Given the description of an element on the screen output the (x, y) to click on. 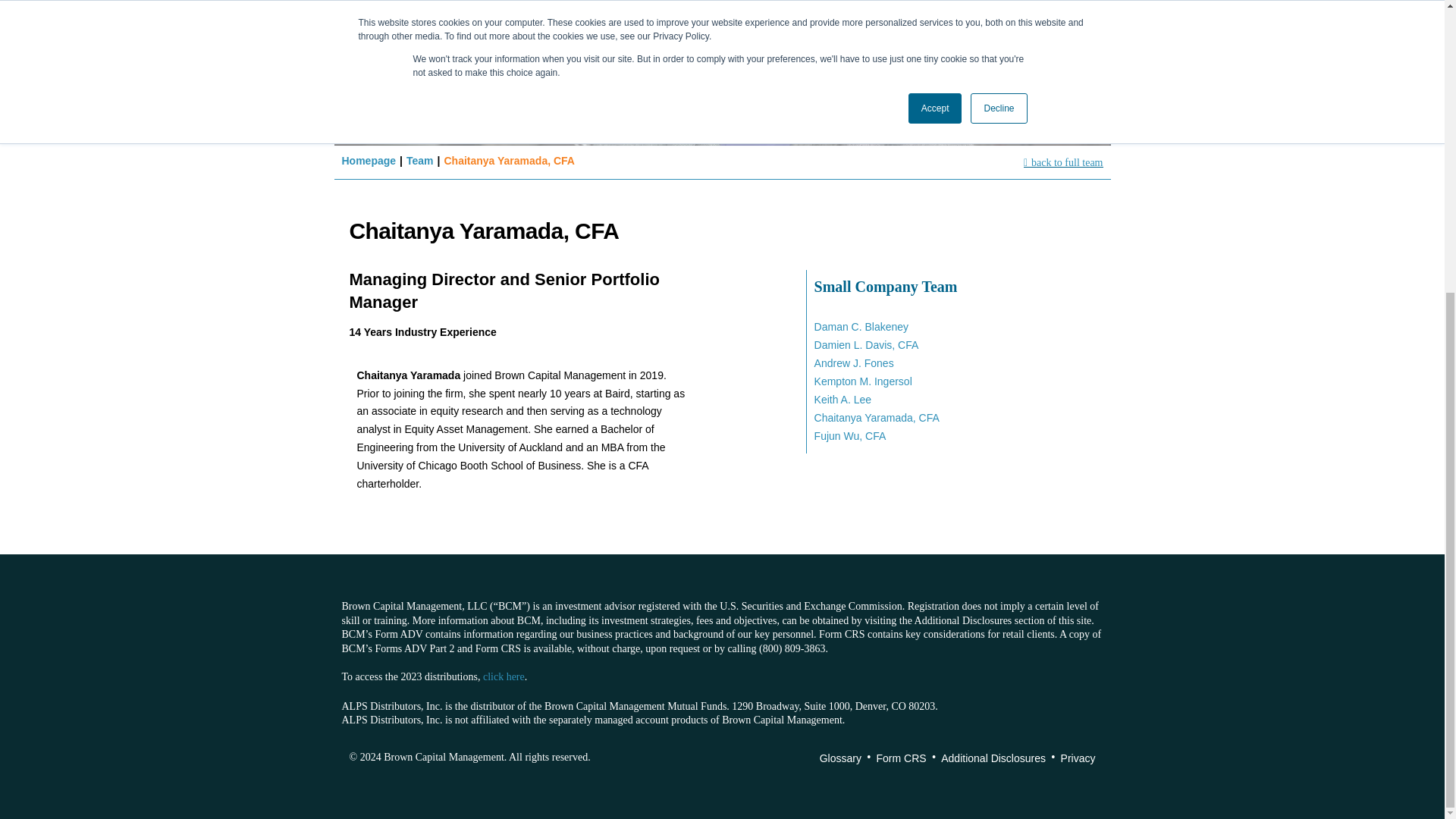
Homepage (368, 160)
Team (419, 160)
Team (419, 160)
Homepage (368, 160)
Daman C. Blakeney (860, 326)
Damien L. Davis, CFA (865, 345)
back to full team (1063, 162)
Andrew J. Fones (853, 363)
